Given the description of an element on the screen output the (x, y) to click on. 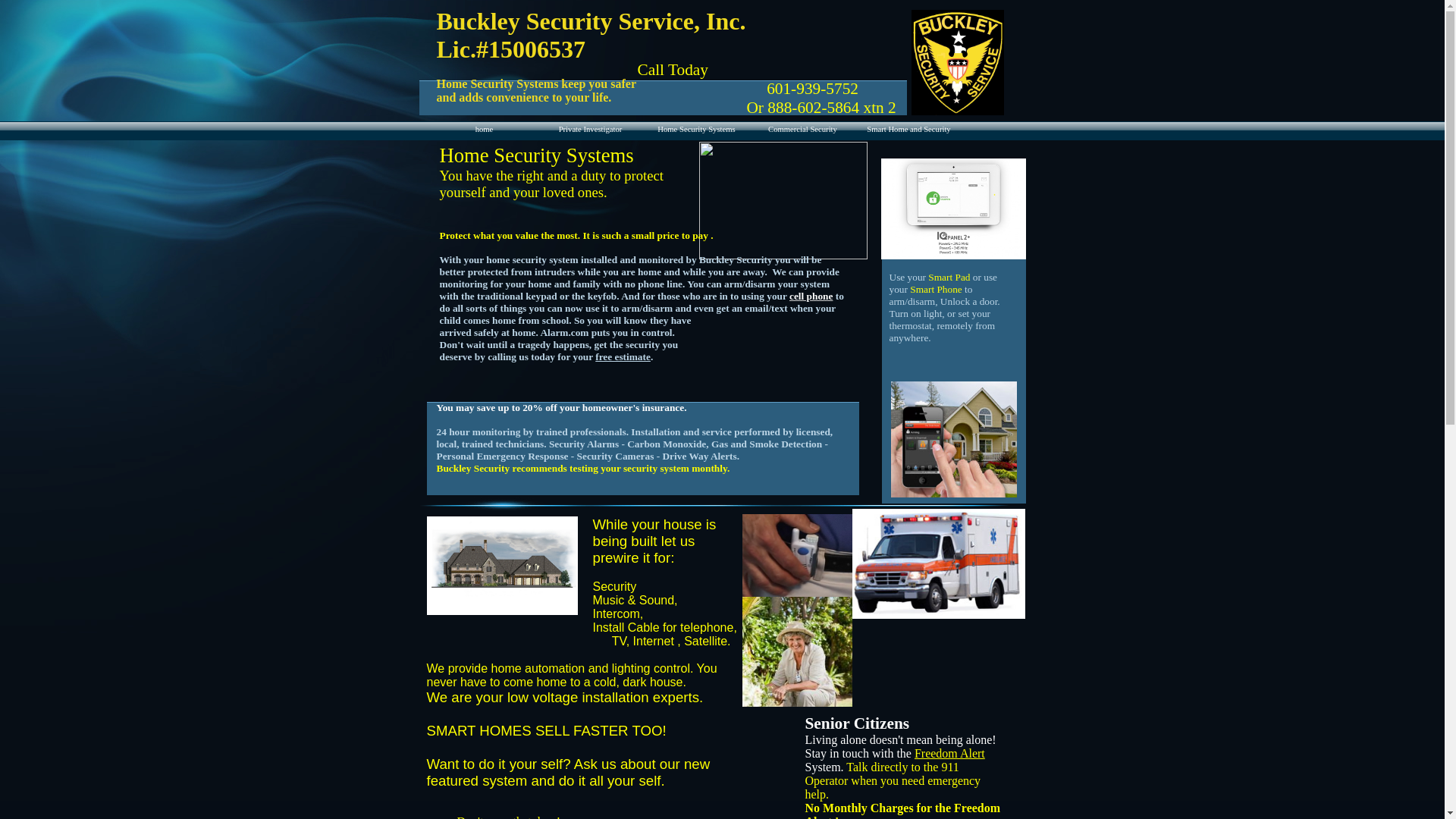
cell phone (810, 296)
Smart Home and Security (908, 132)
Freedom Alert (949, 753)
Private Investigator (590, 132)
home (483, 132)
Commercial Security (802, 132)
Home Security Systems (696, 132)
